Given the description of an element on the screen output the (x, y) to click on. 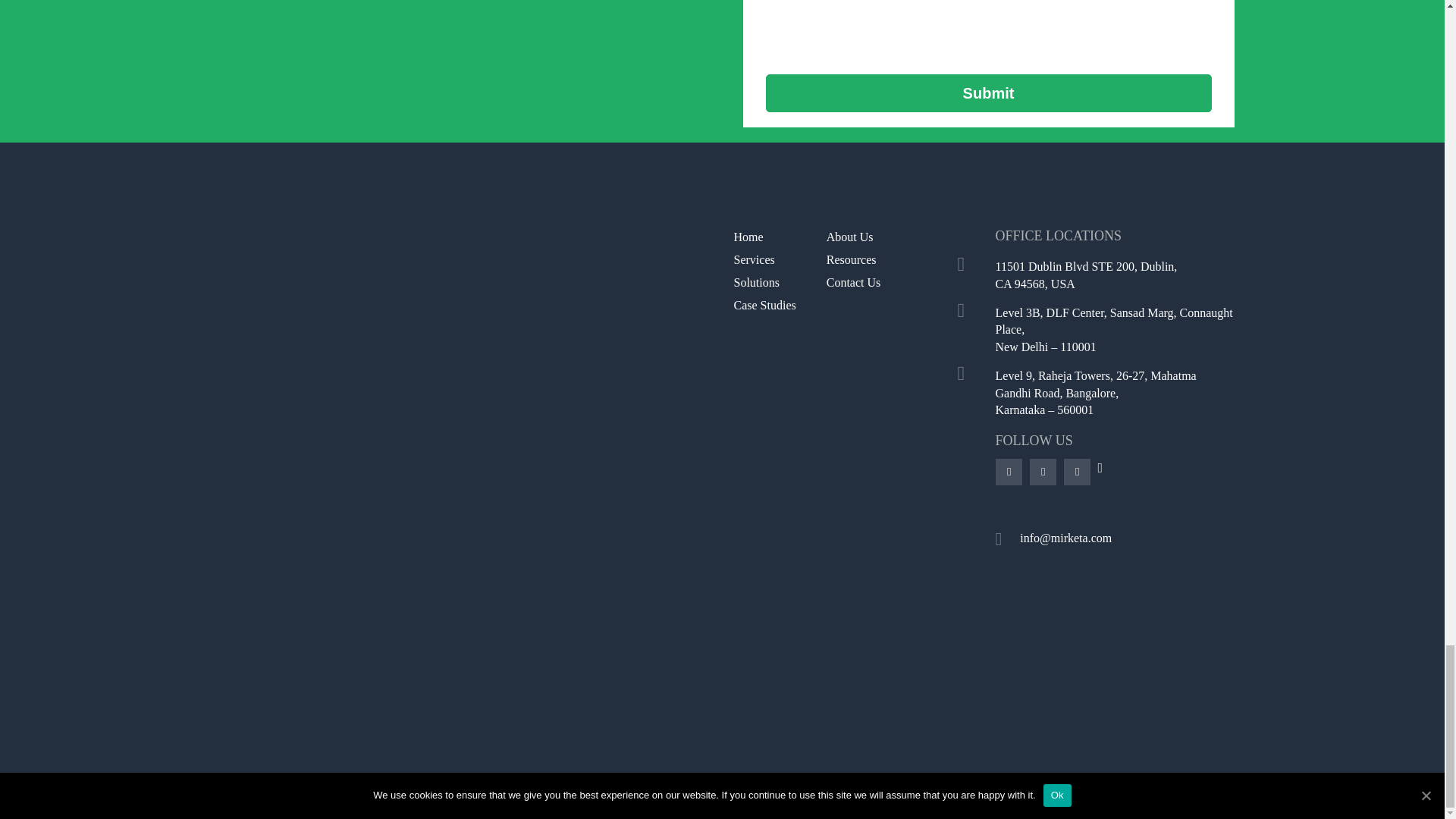
Submit (988, 93)
reCAPTCHA (880, 25)
